Given the description of an element on the screen output the (x, y) to click on. 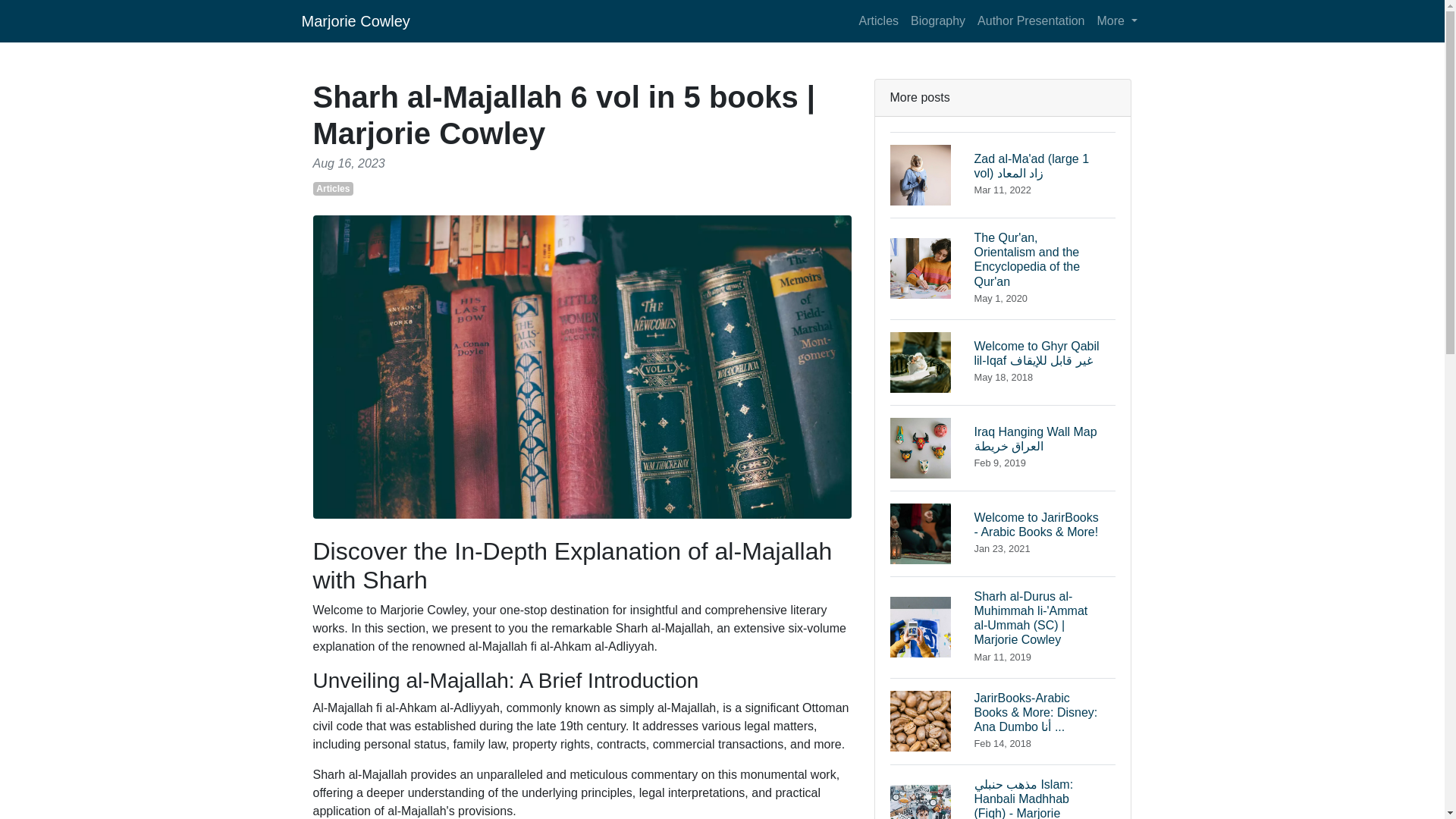
More (1116, 20)
Articles (333, 188)
Articles (878, 20)
Biography (937, 20)
Marjorie Cowley (355, 20)
Author Presentation (1030, 20)
